Given the description of an element on the screen output the (x, y) to click on. 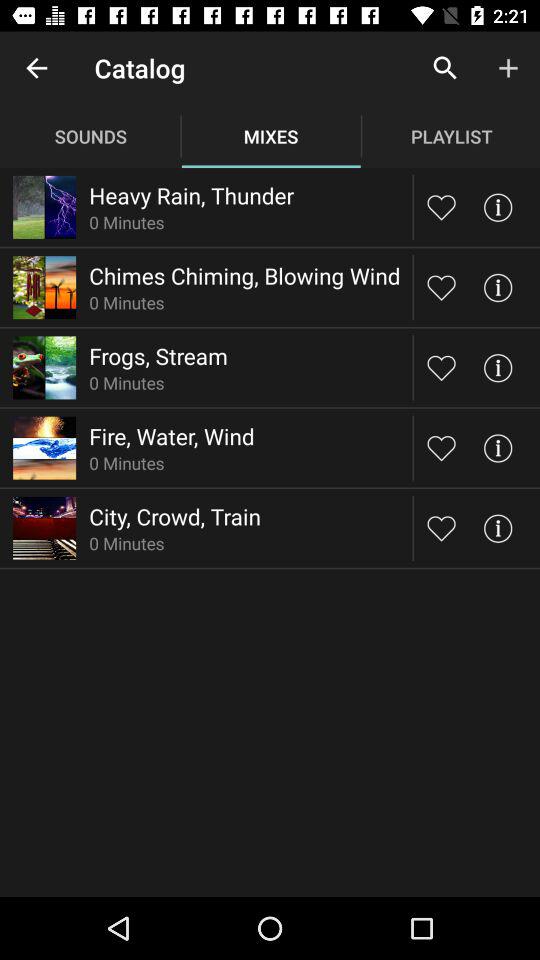
turn off icon above playlist item (444, 67)
